Given the description of an element on the screen output the (x, y) to click on. 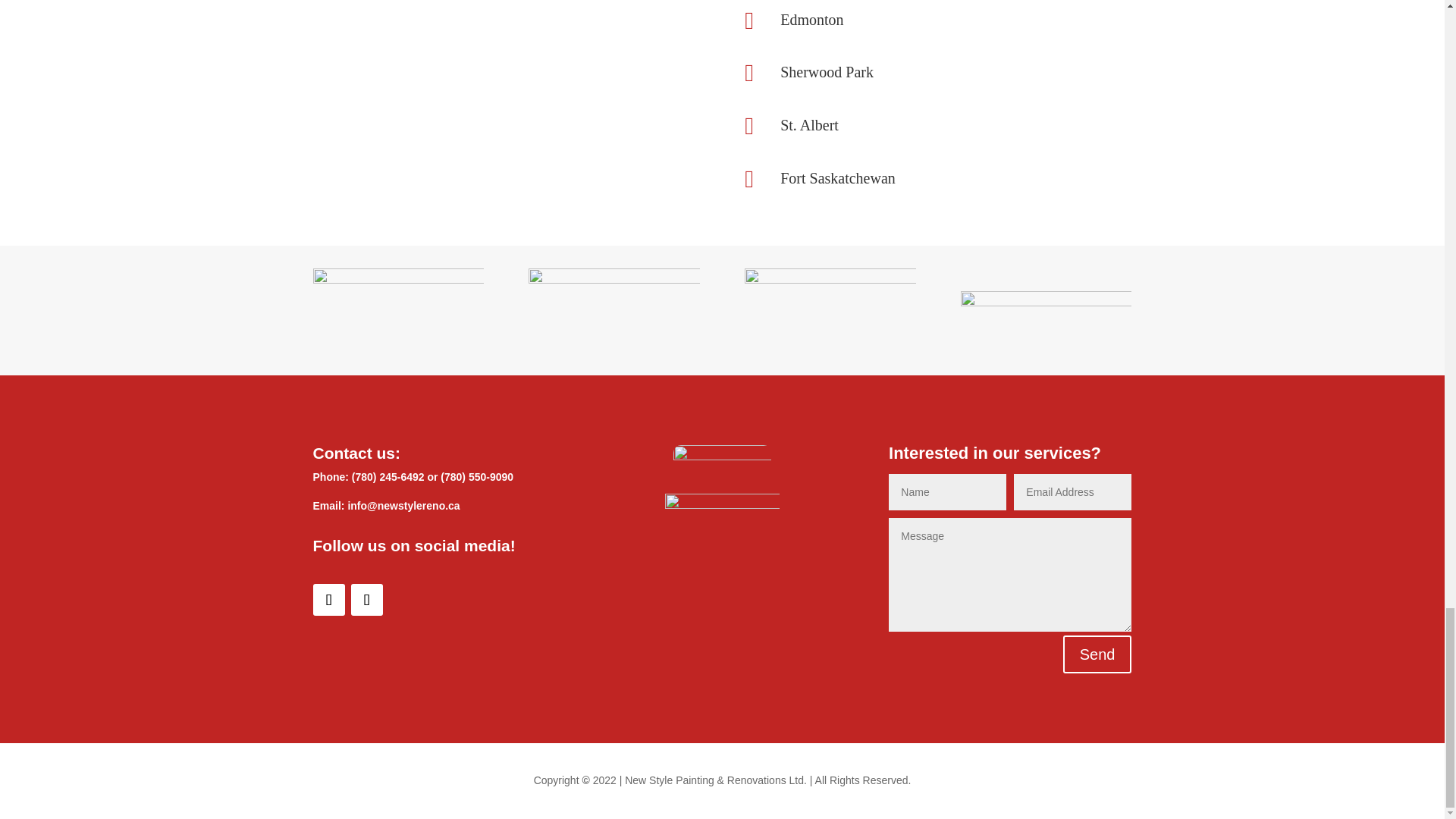
Send (1097, 654)
Follow on Facebook (328, 599)
Follow on Instagram (365, 599)
